Given the description of an element on the screen output the (x, y) to click on. 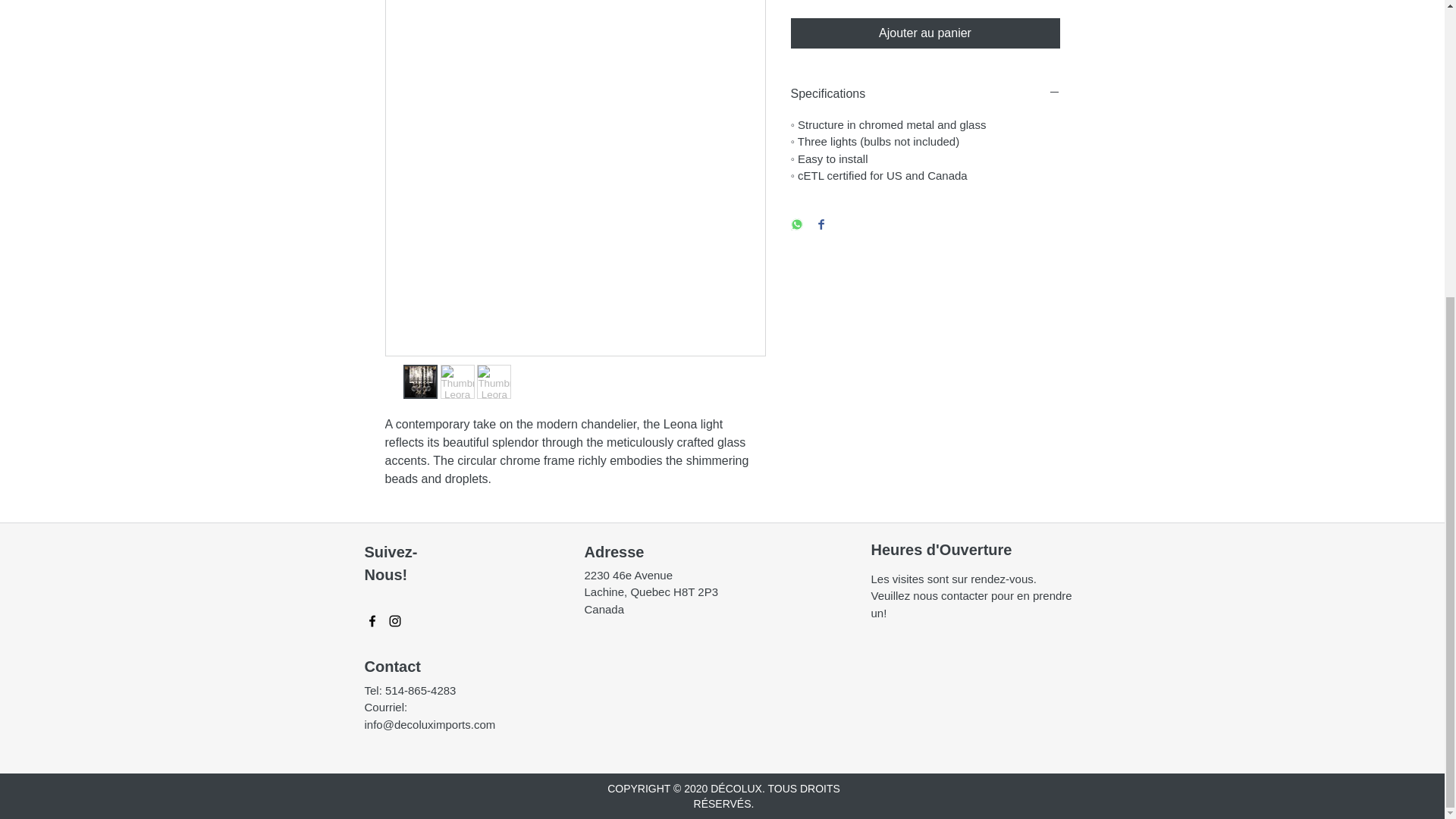
Ajouter au panier (924, 33)
Specifications (924, 94)
